Given the description of an element on the screen output the (x, y) to click on. 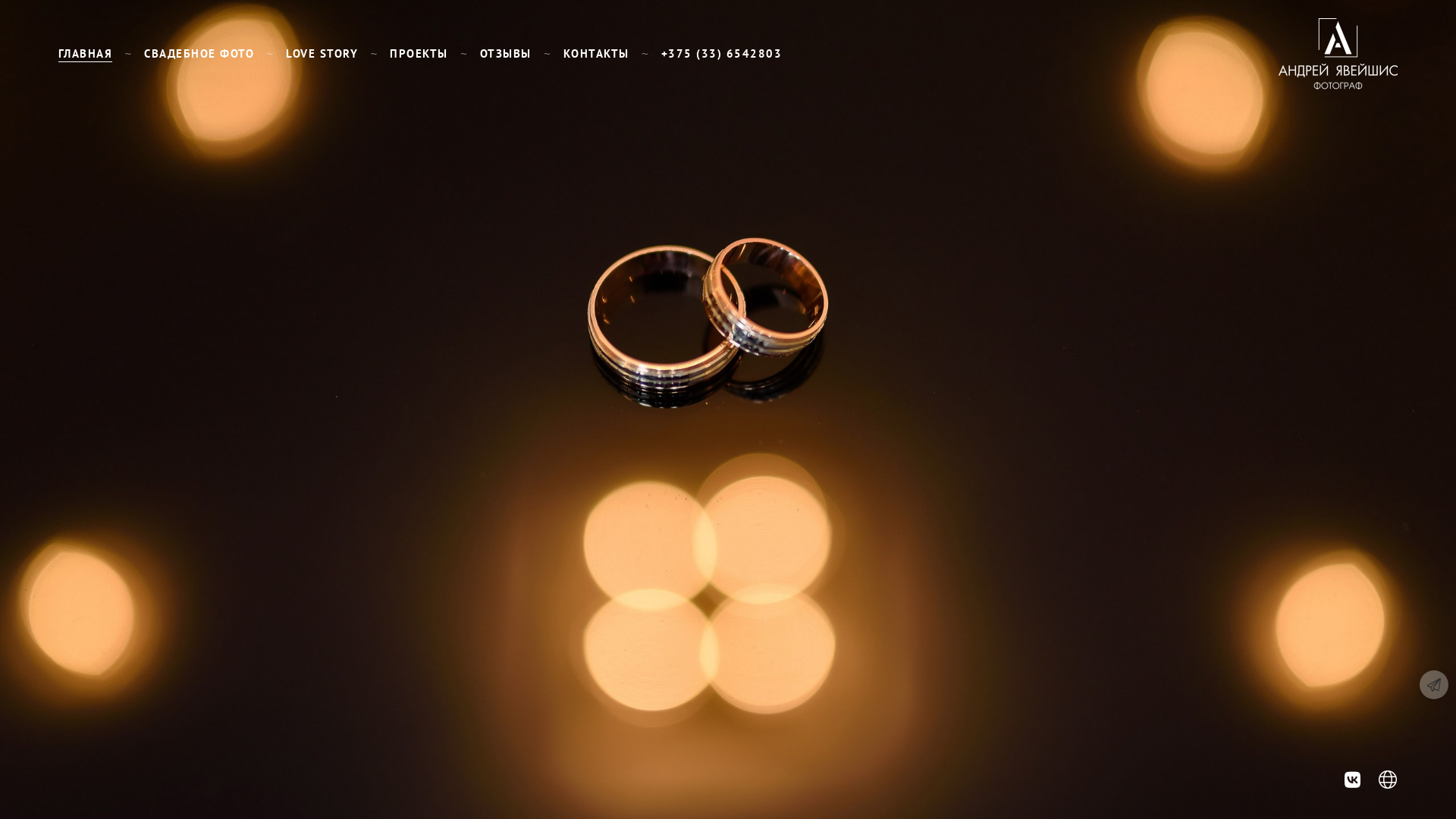
http://instagram.com/yaveishis/ Element type: hover (1387, 779)
LOVE STORY Element type: text (321, 53)
http://vk.com/andrey_grodno Element type: hover (1352, 779)
+375 (33) 6542803 Element type: text (721, 53)
